Given the description of an element on the screen output the (x, y) to click on. 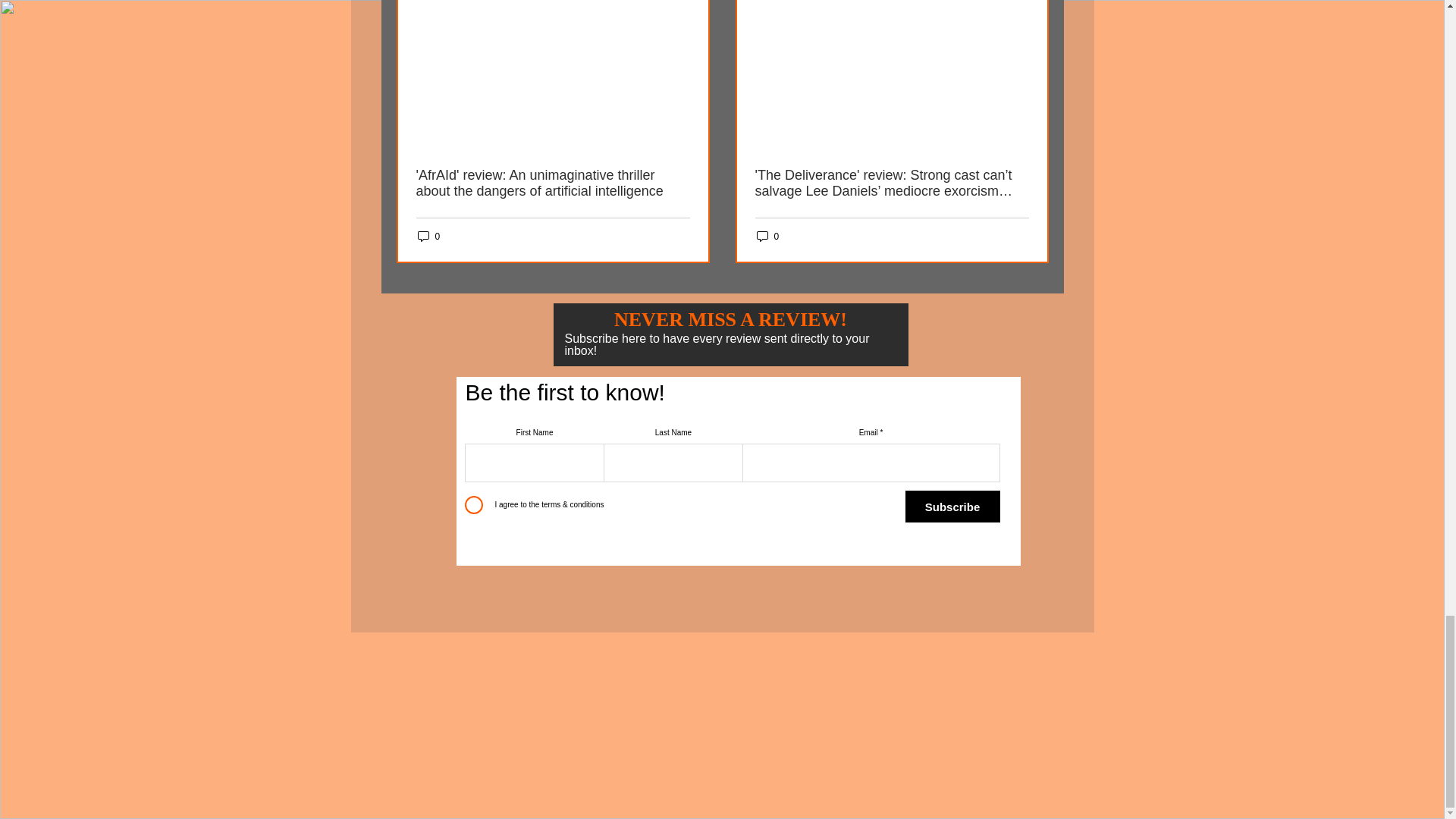
0 (427, 236)
0 (767, 236)
Subscribe (952, 506)
